Given the description of an element on the screen output the (x, y) to click on. 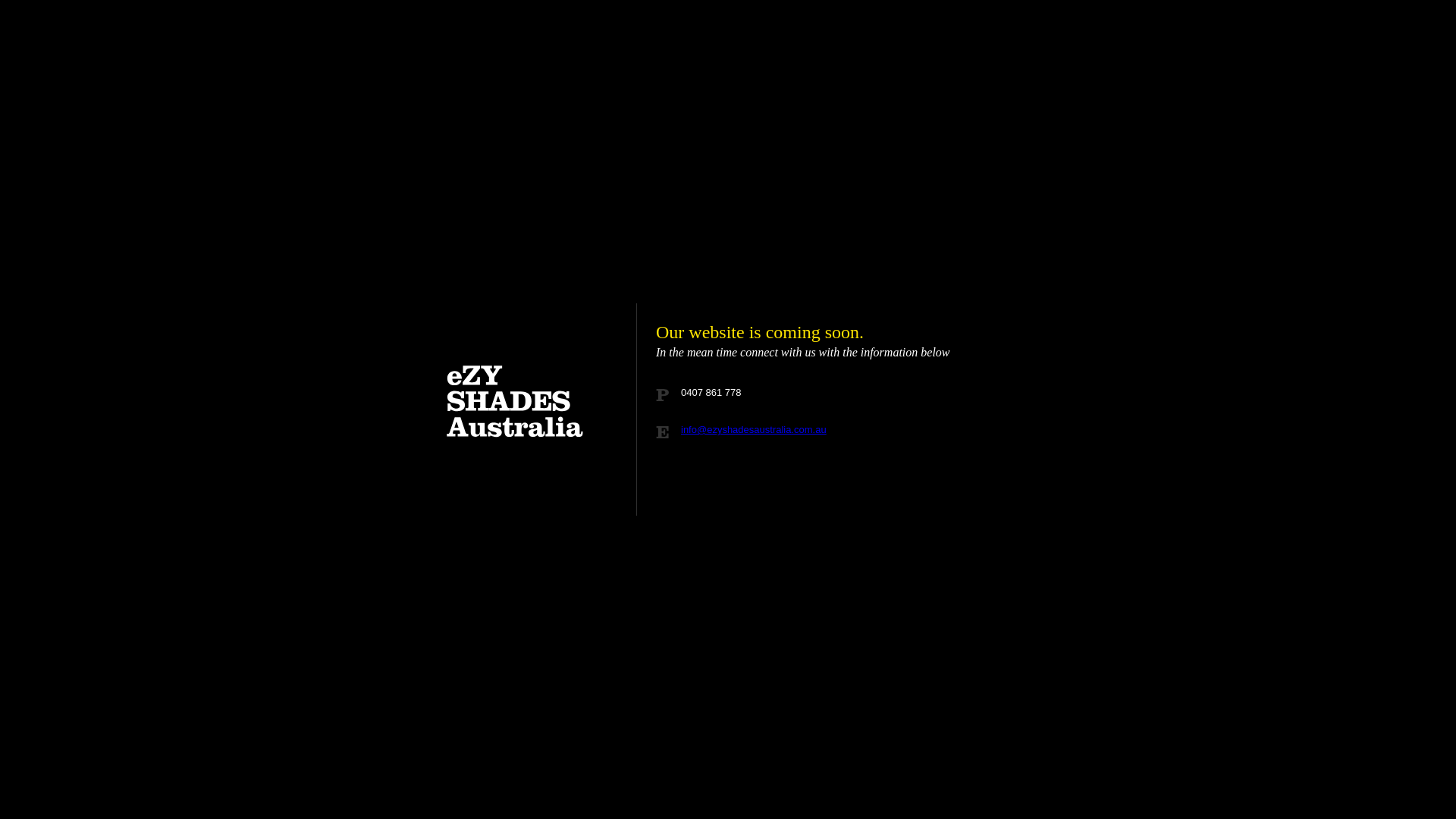
info@ezyshadesaustralia.com.au Element type: text (753, 429)
